Given the description of an element on the screen output the (x, y) to click on. 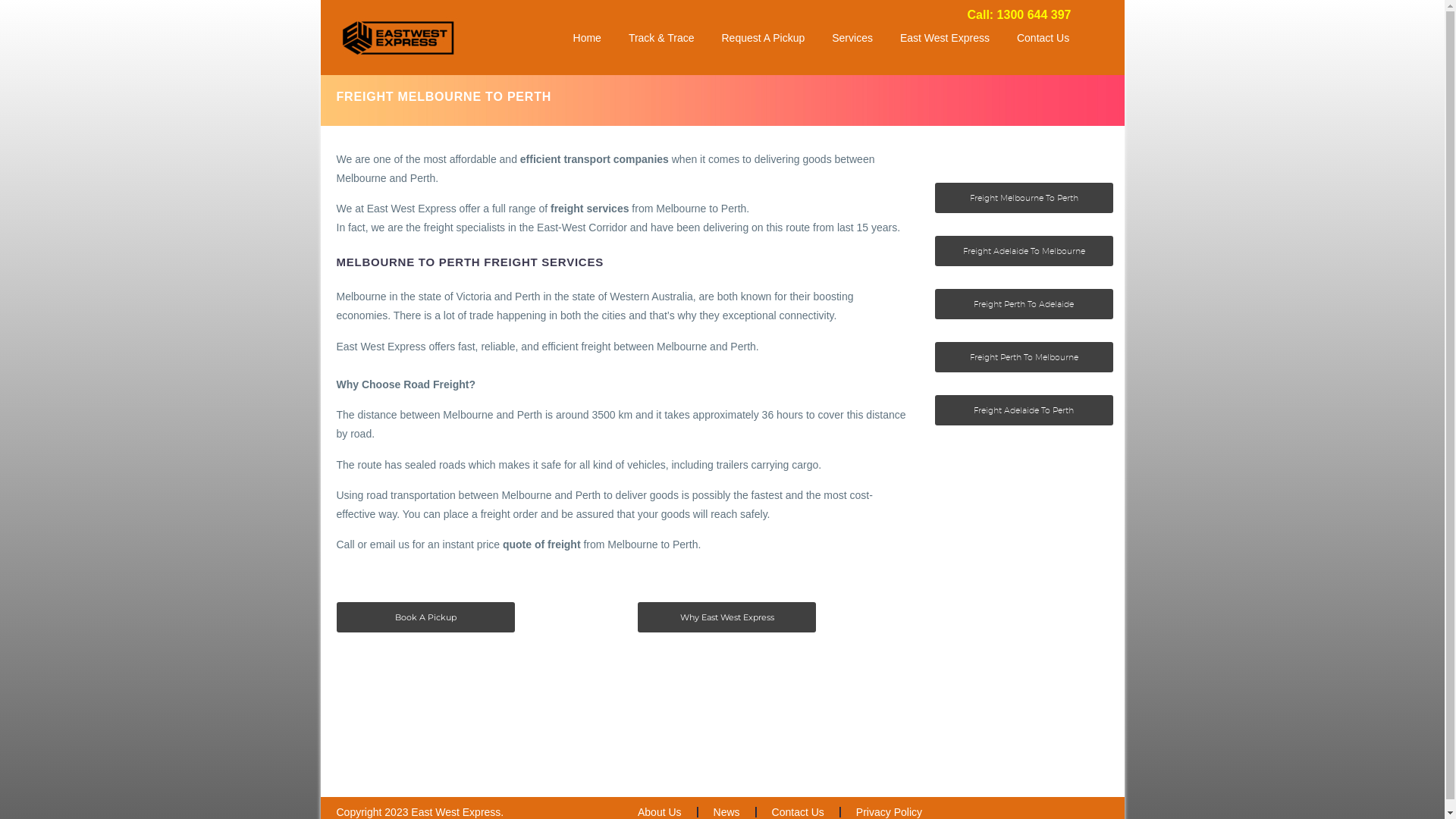
Freight Melbourne To Perth Element type: text (1023, 197)
Track & Trace Element type: text (661, 37)
Freight Adelaide To Melbourne Element type: text (1023, 250)
Request A Pickup Element type: text (762, 37)
East West Express Element type: text (944, 37)
freight services Element type: text (589, 208)
Services Element type: text (852, 37)
Home Element type: text (586, 37)
Book A Pickup Element type: text (425, 617)
Why East West Express Element type: text (726, 617)
Freight Perth To Adelaide Element type: text (1023, 303)
Contact Us Element type: text (1042, 37)
Contact Us Element type: text (797, 811)
Call: 1300 644 397 Element type: text (1019, 14)
About Us Element type: text (659, 811)
efficient transport companies Element type: text (594, 159)
quote of freight Element type: text (541, 544)
News Element type: text (726, 811)
Privacy Policy Element type: text (889, 811)
Freight Perth To Melbourne Element type: text (1023, 357)
Freight Adelaide To Perth Element type: text (1023, 410)
